Given the description of an element on the screen output the (x, y) to click on. 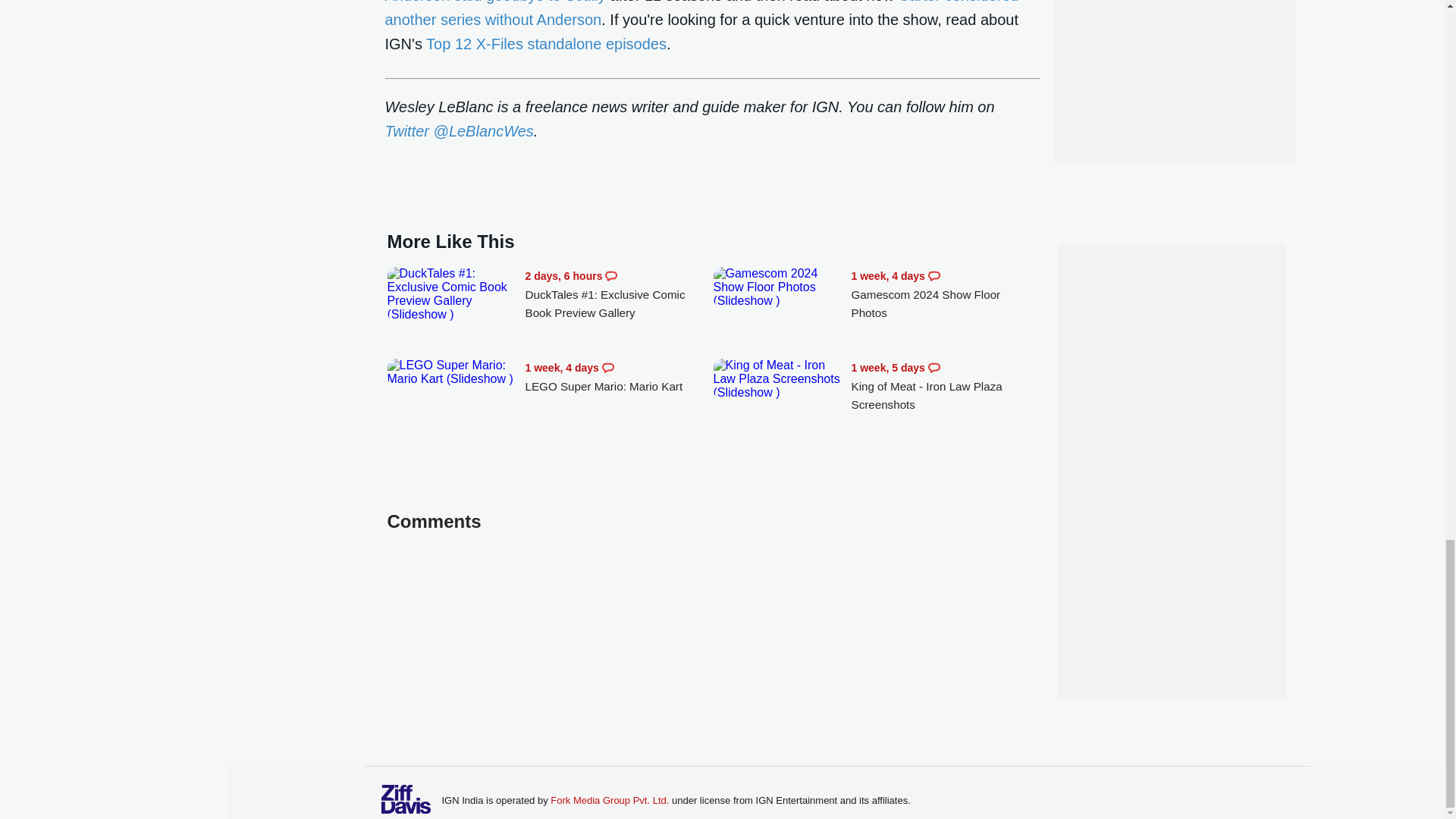
Comments (934, 367)
King of Meat - Iron Law Plaza Screenshots (778, 378)
Comments (608, 367)
LEGO Super Mario: Mario Kart (618, 376)
King of Meat - Iron Law Plaza Screenshots (944, 386)
Gamescom 2024 Show Floor Photos (944, 294)
Comments (611, 275)
LEGO Super Mario: Mario Kart (451, 371)
Comments (934, 275)
Gamescom 2024 Show Floor Photos (778, 286)
